Given the description of an element on the screen output the (x, y) to click on. 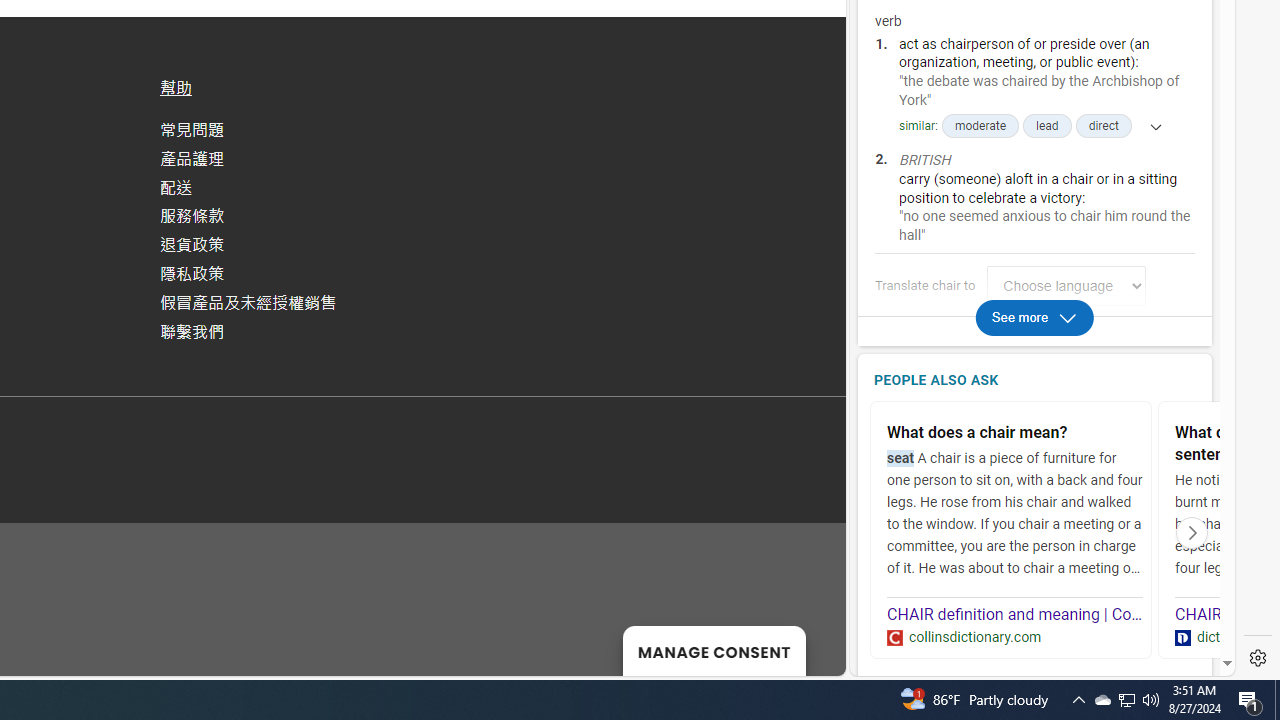
What does a chair mean? (1015, 433)
moderate (980, 125)
Go to top (804, 647)
Link for logging (1072, 285)
